Given the description of an element on the screen output the (x, y) to click on. 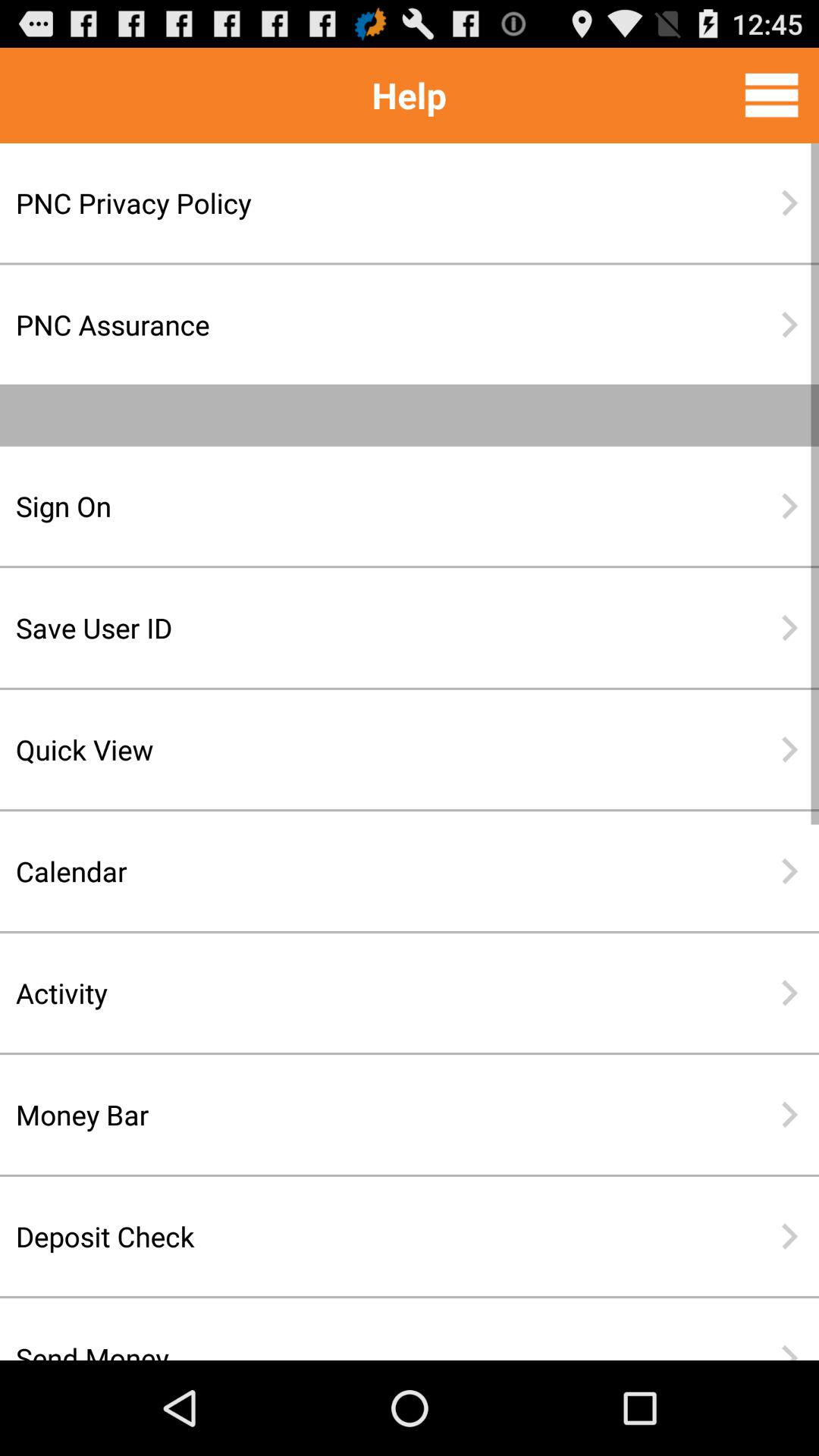
choose the icon below deposit check (359, 1337)
